Given the description of an element on the screen output the (x, y) to click on. 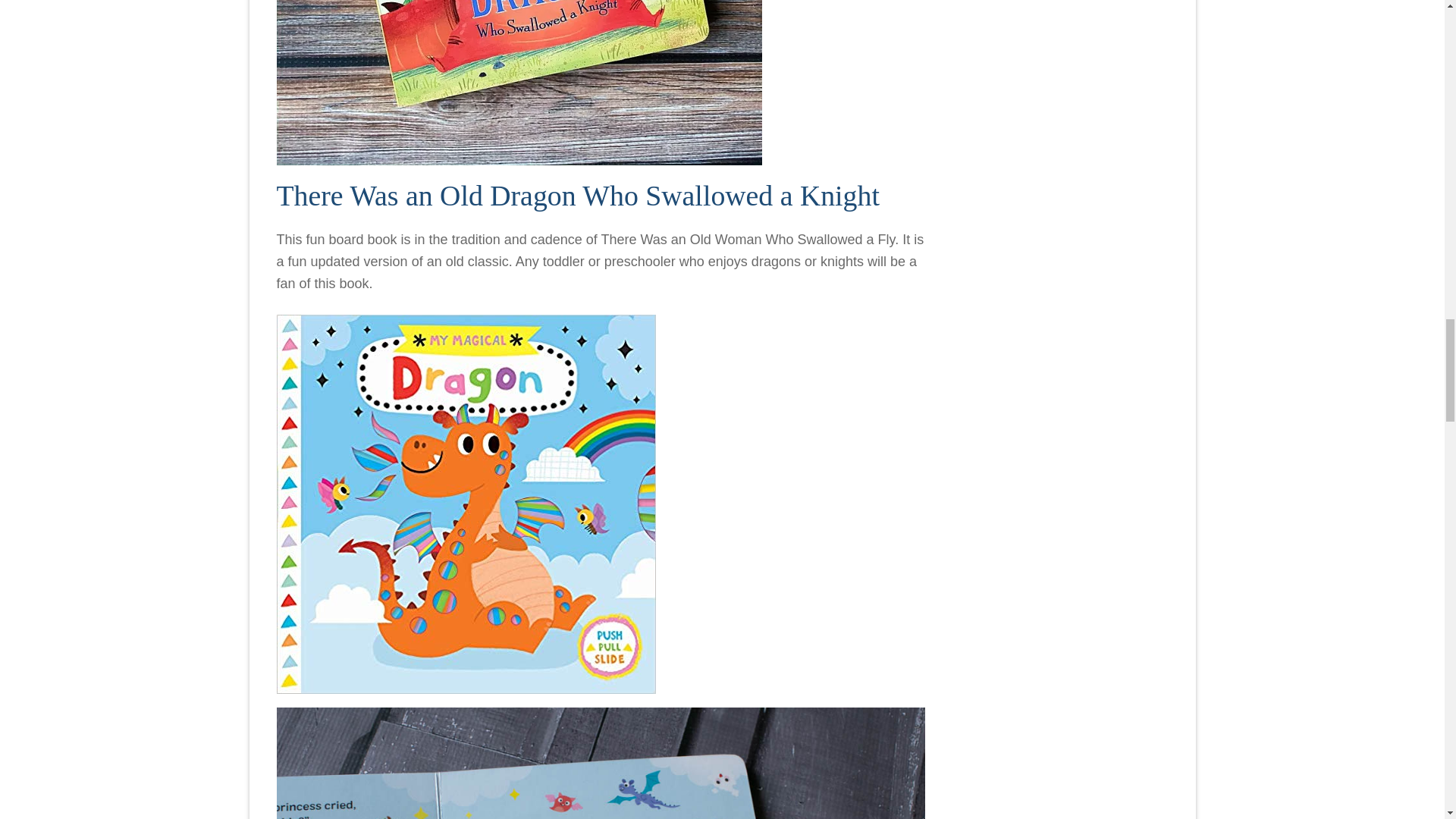
There Was an Old Dragon Who Swallowed a Knight (577, 195)
